Given the description of an element on the screen output the (x, y) to click on. 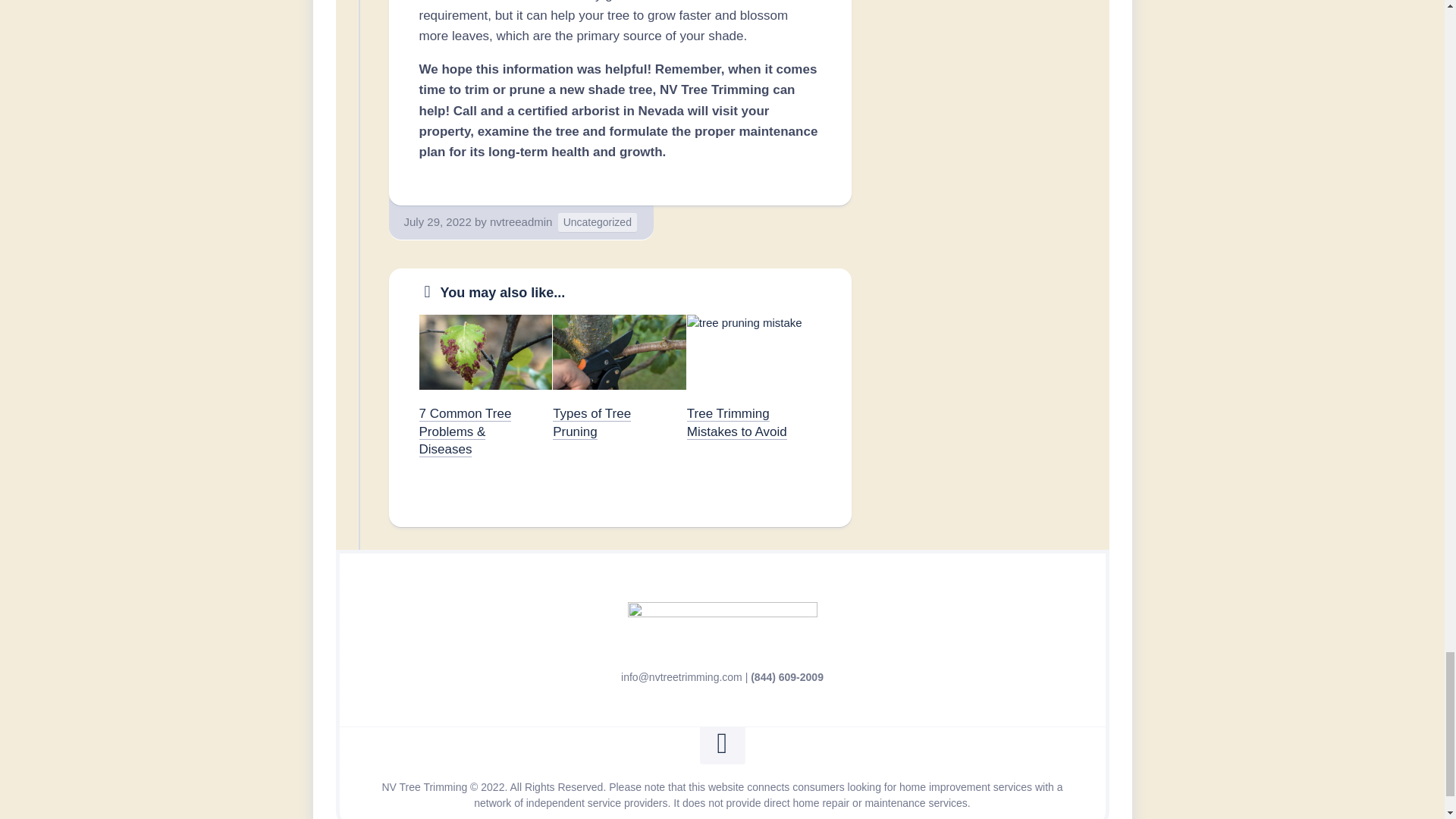
Types of Tree Pruning (591, 422)
Posts by nvtreeadmin (521, 221)
nvtreeadmin (521, 221)
Tree Trimming Mistakes to Avoid (737, 422)
Uncategorized (597, 221)
